Given the description of an element on the screen output the (x, y) to click on. 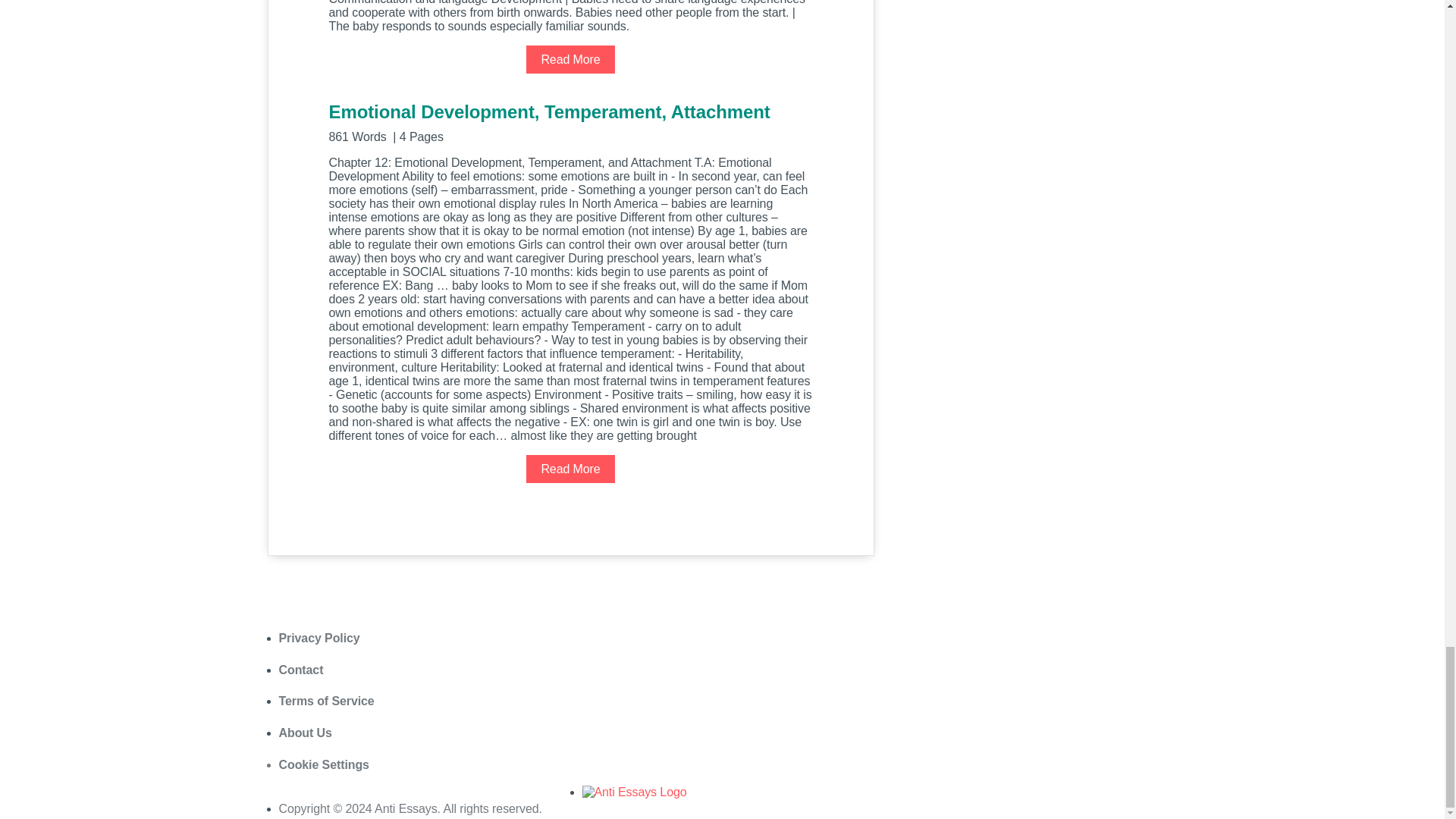
Terms of Service (326, 700)
Emotional Development, Temperament, Attachment (570, 121)
Read More (569, 59)
Contact (301, 669)
Privacy Policy (319, 637)
Read More (569, 469)
